Given the description of an element on the screen output the (x, y) to click on. 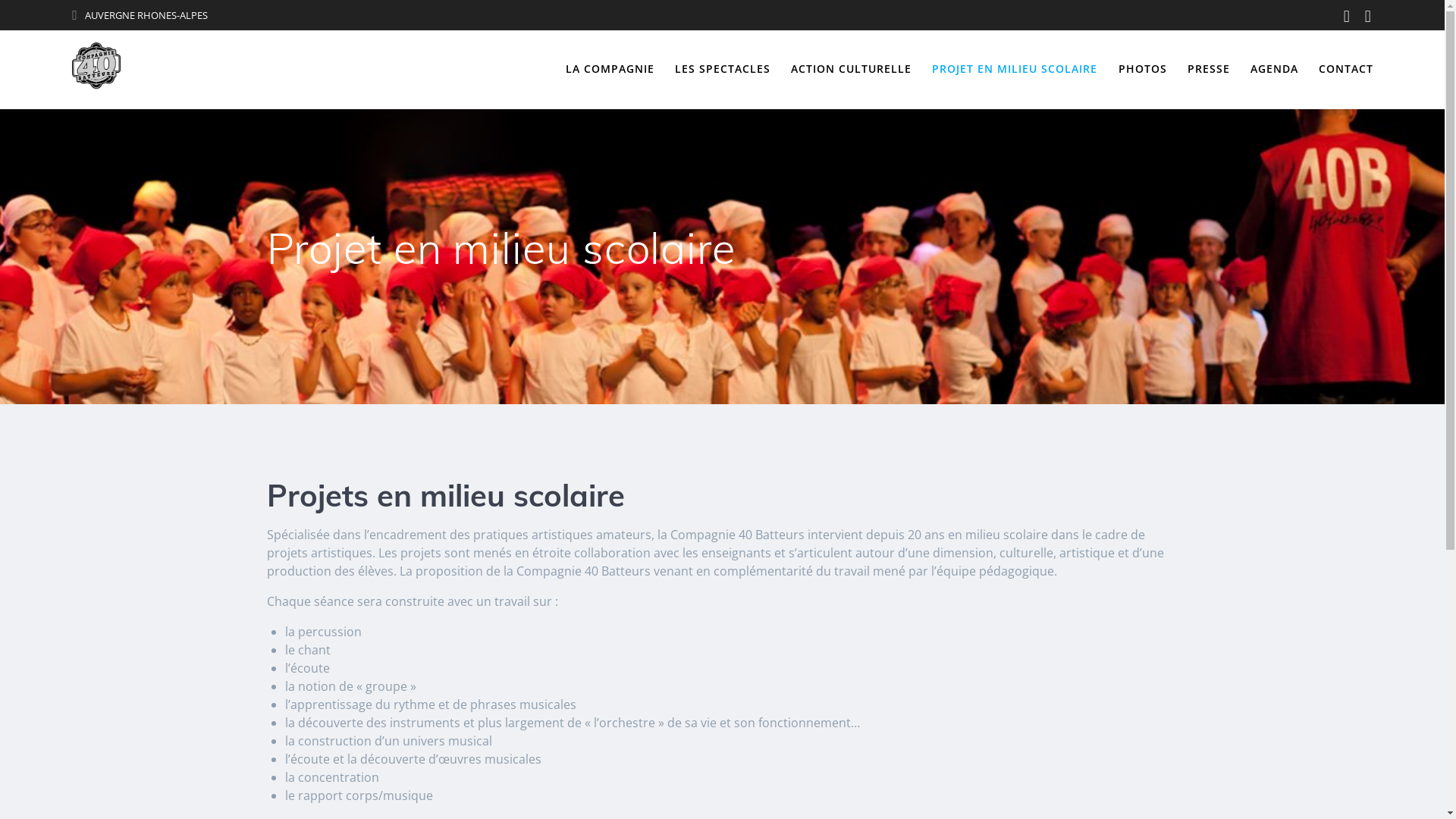
ACTION CULTURELLE Element type: text (850, 68)
LES SPECTACLES Element type: text (722, 68)
PHOTOS Element type: text (1142, 68)
CONTACT Element type: text (1345, 68)
AGENDA Element type: text (1274, 68)
PROJET EN MILIEU SCOLAIRE Element type: text (1014, 68)
PRESSE Element type: text (1208, 68)
LA COMPAGNIE Element type: text (609, 68)
